Given the description of an element on the screen output the (x, y) to click on. 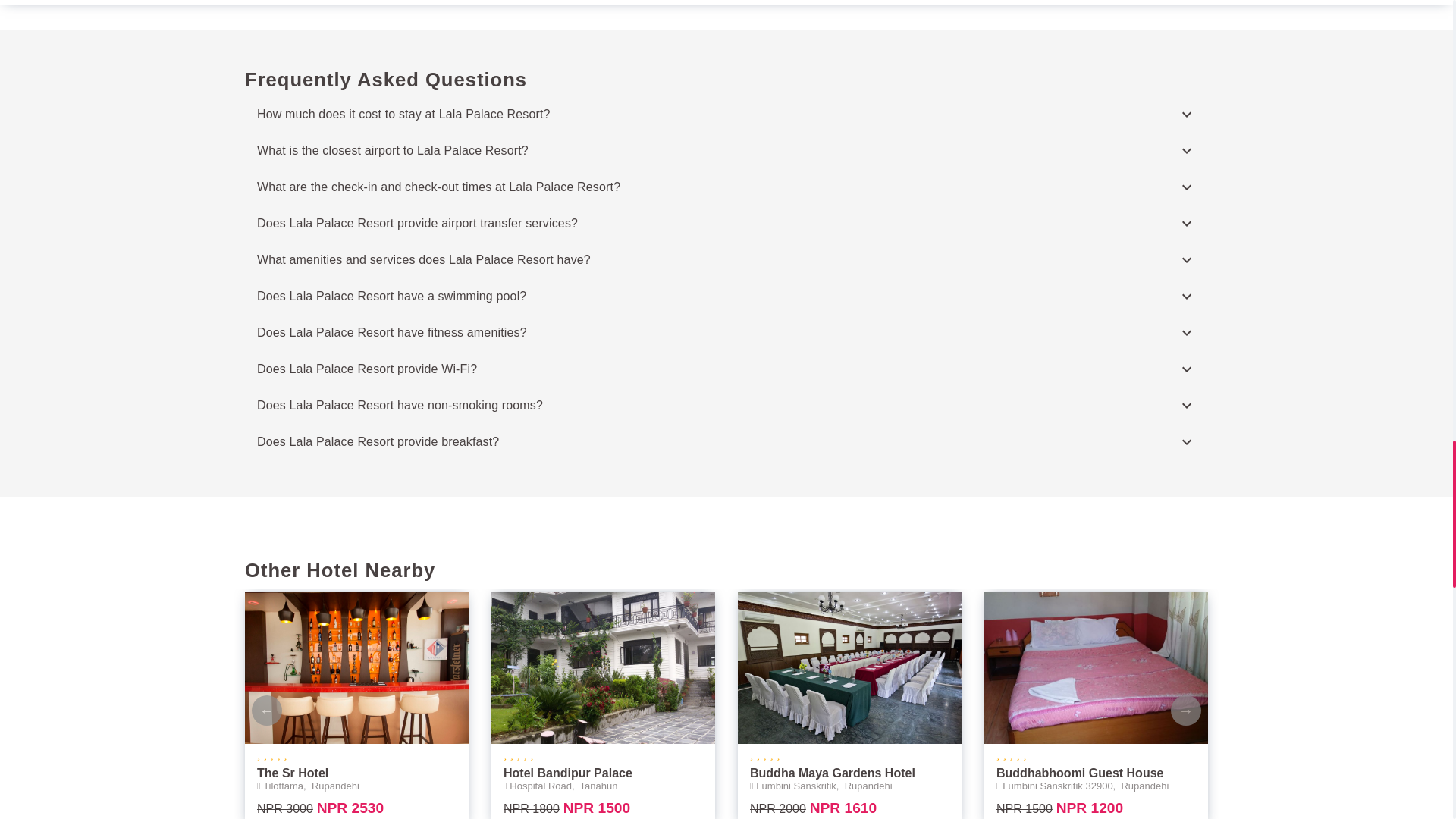
Previous (266, 710)
